Given the description of an element on the screen output the (x, y) to click on. 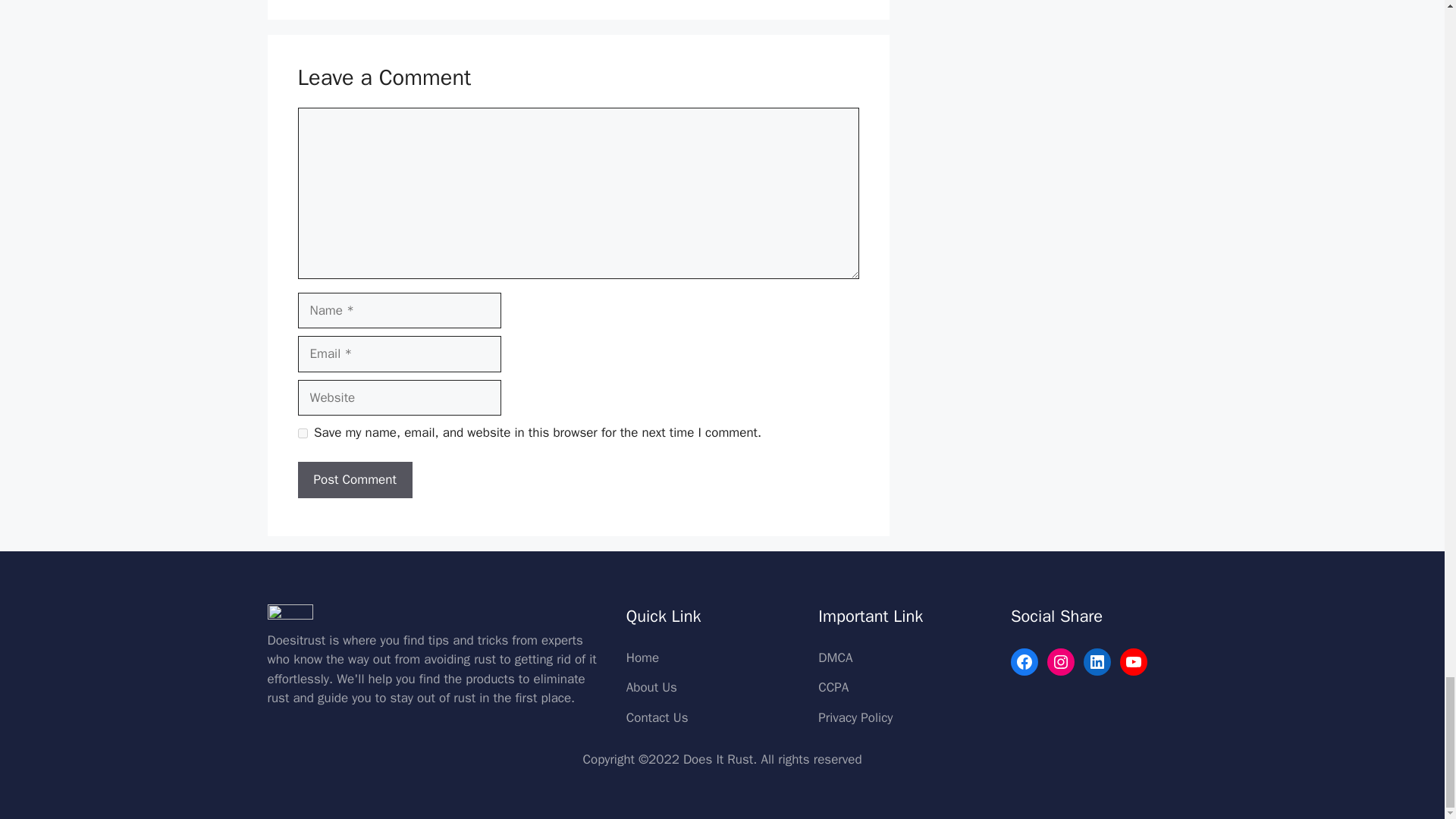
Home (642, 657)
DMCA (834, 657)
Post Comment (354, 479)
Post Comment (354, 479)
yes (302, 433)
Contact Us (657, 717)
CCPA (833, 687)
Privacy Policy (855, 717)
About Us (651, 687)
